Given the description of an element on the screen output the (x, y) to click on. 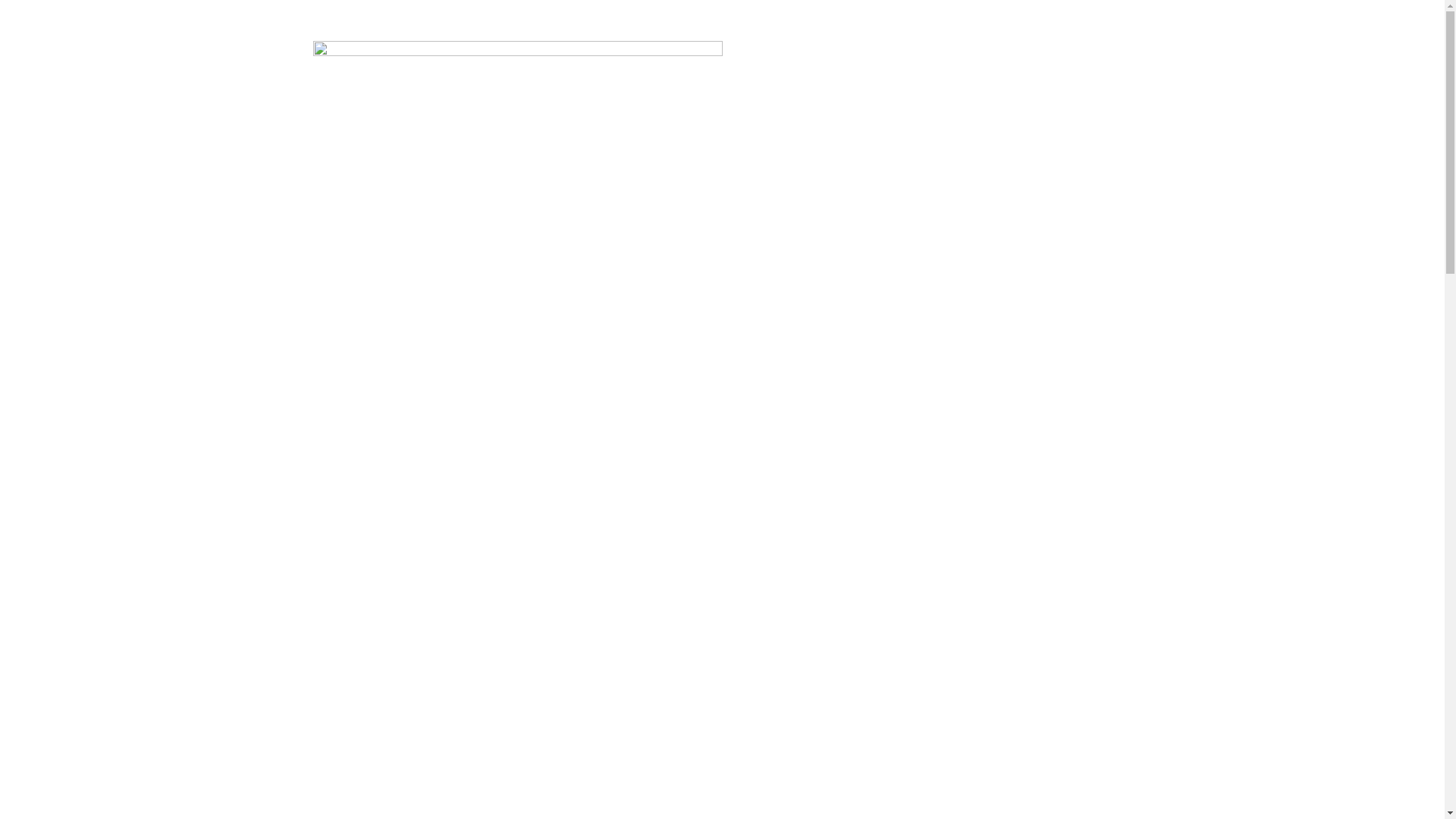
nuova_1_ok Element type: hover (516, 51)
